Given the description of an element on the screen output the (x, y) to click on. 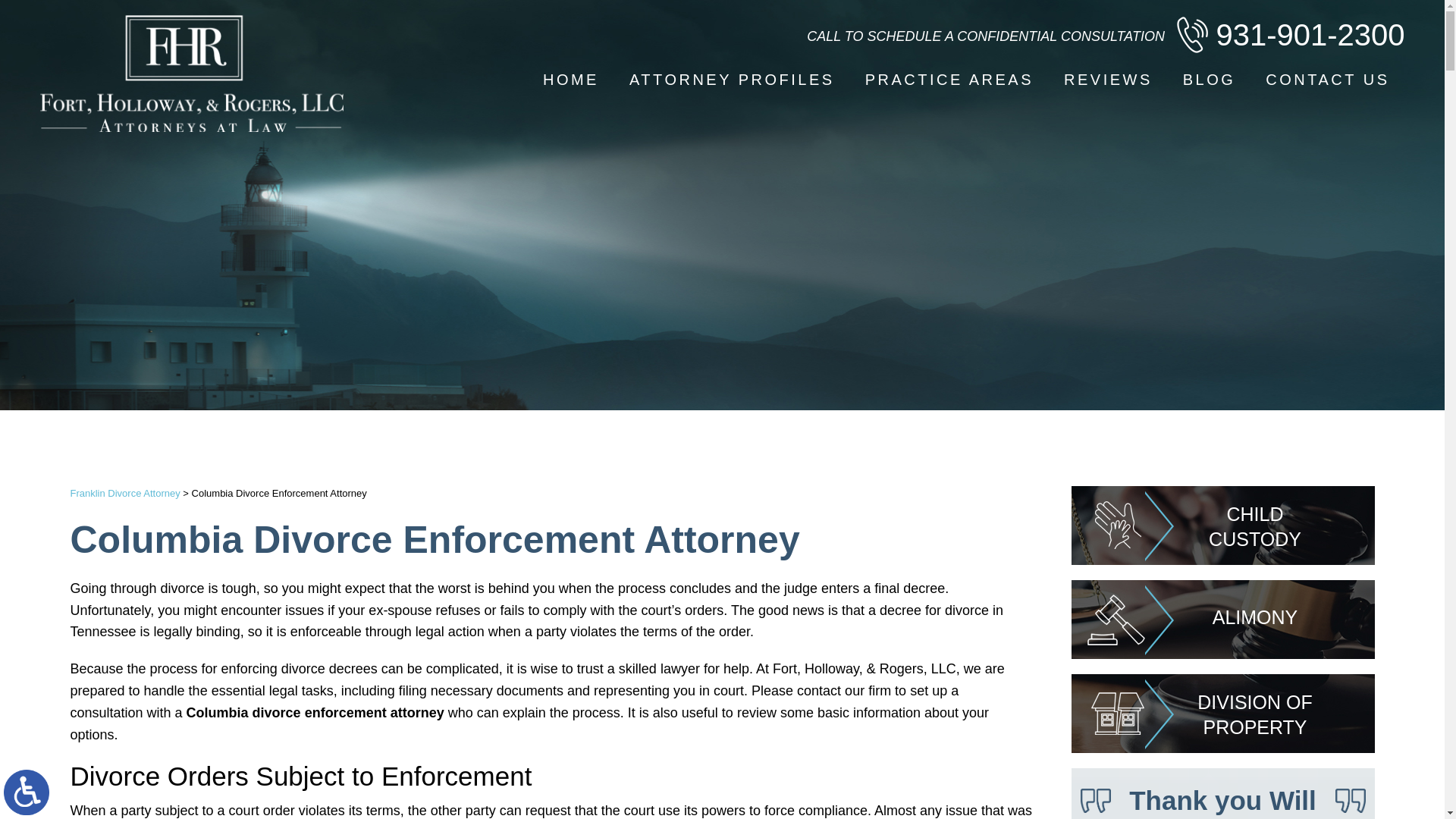
Switch to ADA Accessible Theme (26, 791)
PRACTICE AREAS (949, 79)
ATTORNEY PROFILES (732, 79)
931-901-2300 (1289, 34)
HOME (570, 79)
